Given the description of an element on the screen output the (x, y) to click on. 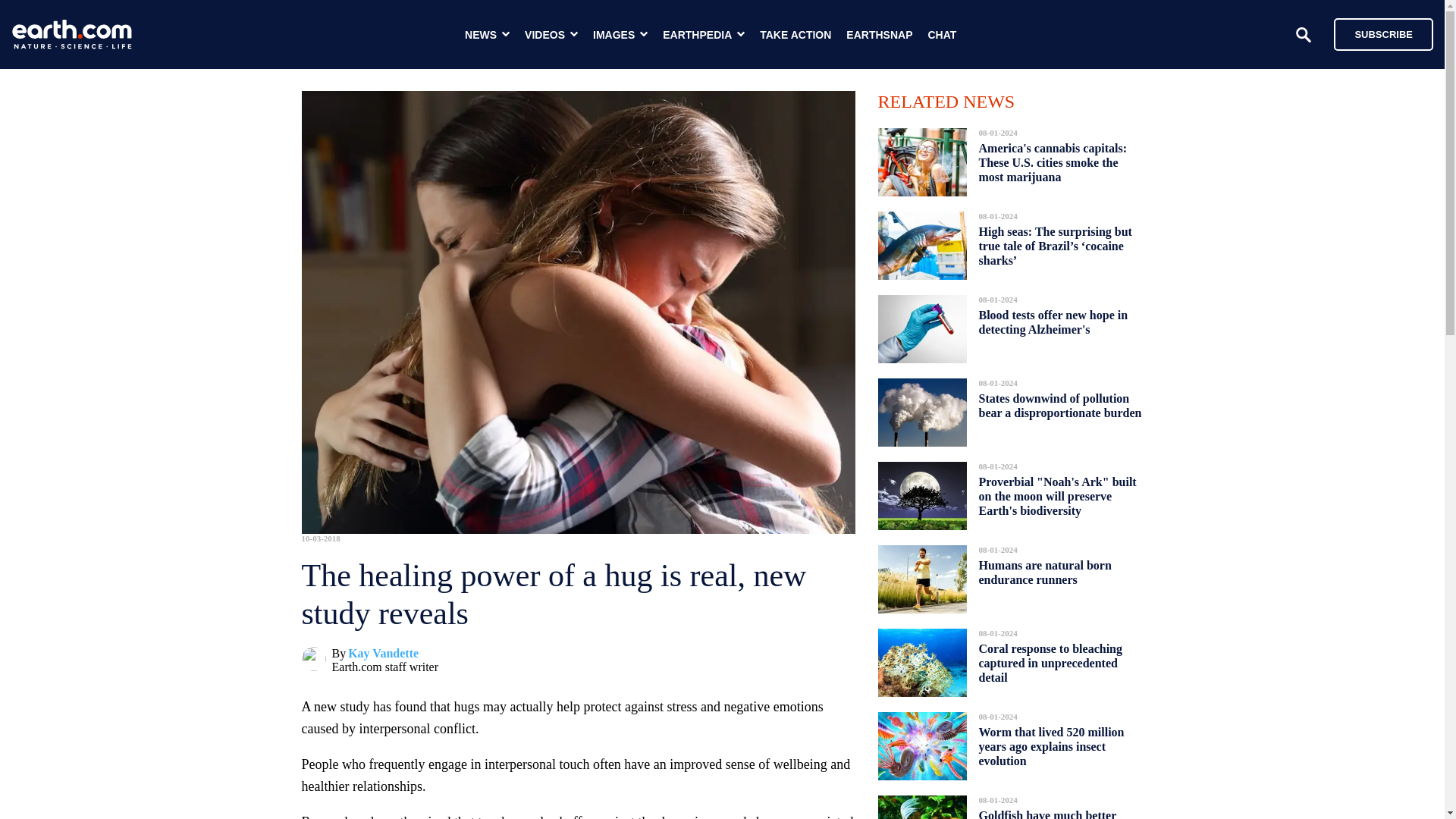
CHAT (941, 34)
EARTHSNAP (878, 34)
Kay Vandette (383, 653)
Humans are natural born endurance runners (1044, 572)
SUBSCRIBE (1382, 34)
SUBSCRIBE (1375, 33)
TAKE ACTION (795, 34)
Blood tests offer new hope in detecting Alzheimer's (1052, 322)
States downwind of pollution bear a disproportionate burden (1059, 405)
